Given the description of an element on the screen output the (x, y) to click on. 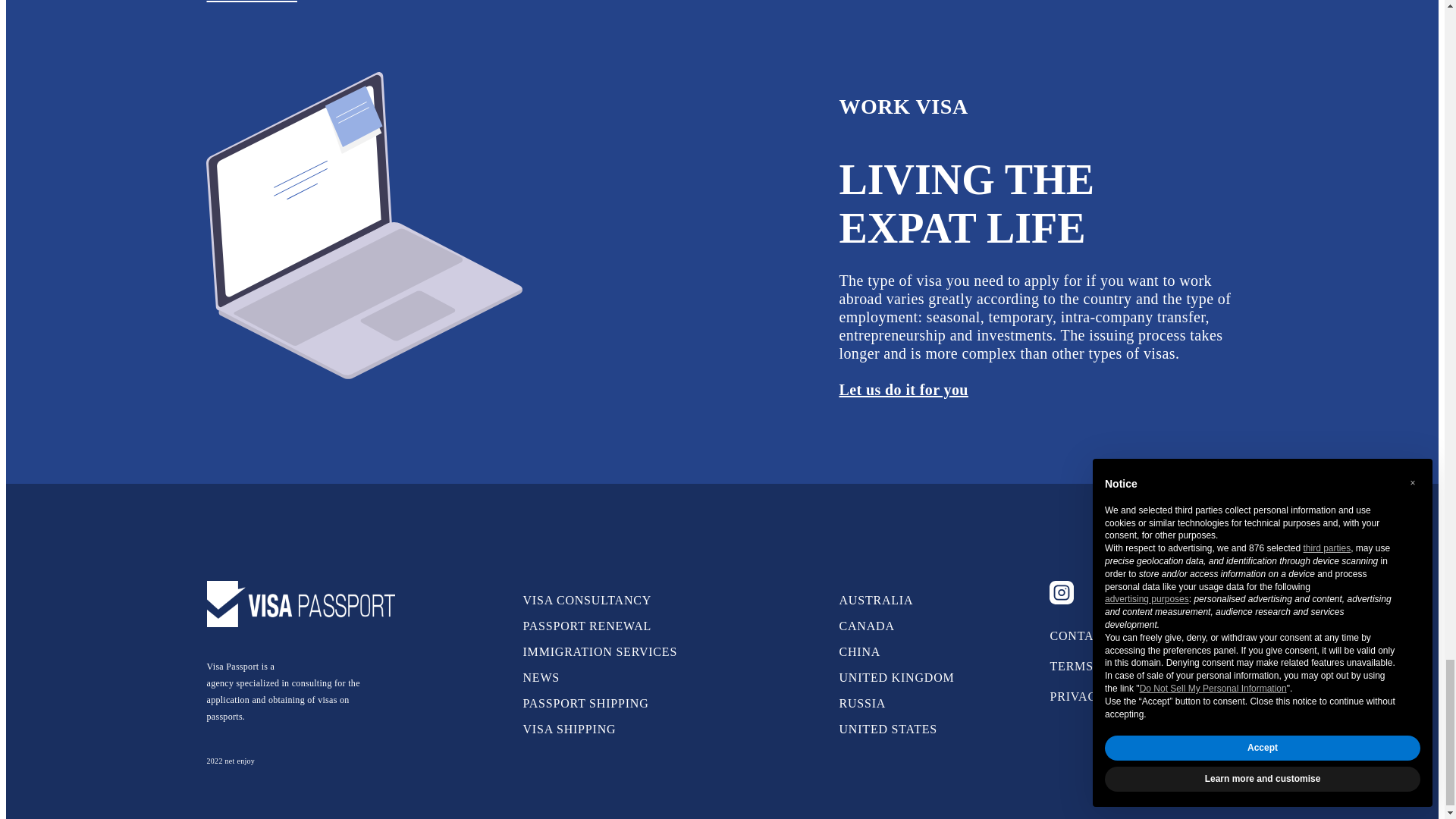
CONTACT (1079, 635)
Let us do it for you (903, 389)
CANADA (865, 625)
RUSSIA (861, 703)
NEWS (540, 676)
VISA SHIPPING (568, 728)
PRIVACY POLICY (1102, 696)
VISA CONSULTANCY (586, 599)
CHINA (859, 651)
UNITED STATES (887, 728)
logo footer (300, 603)
TERMS AND CONDITIONS (1128, 666)
IMMIGRATION SERVICES (599, 651)
AUSTRALIA (875, 599)
UNITED KINGDOM (895, 676)
